Given the description of an element on the screen output the (x, y) to click on. 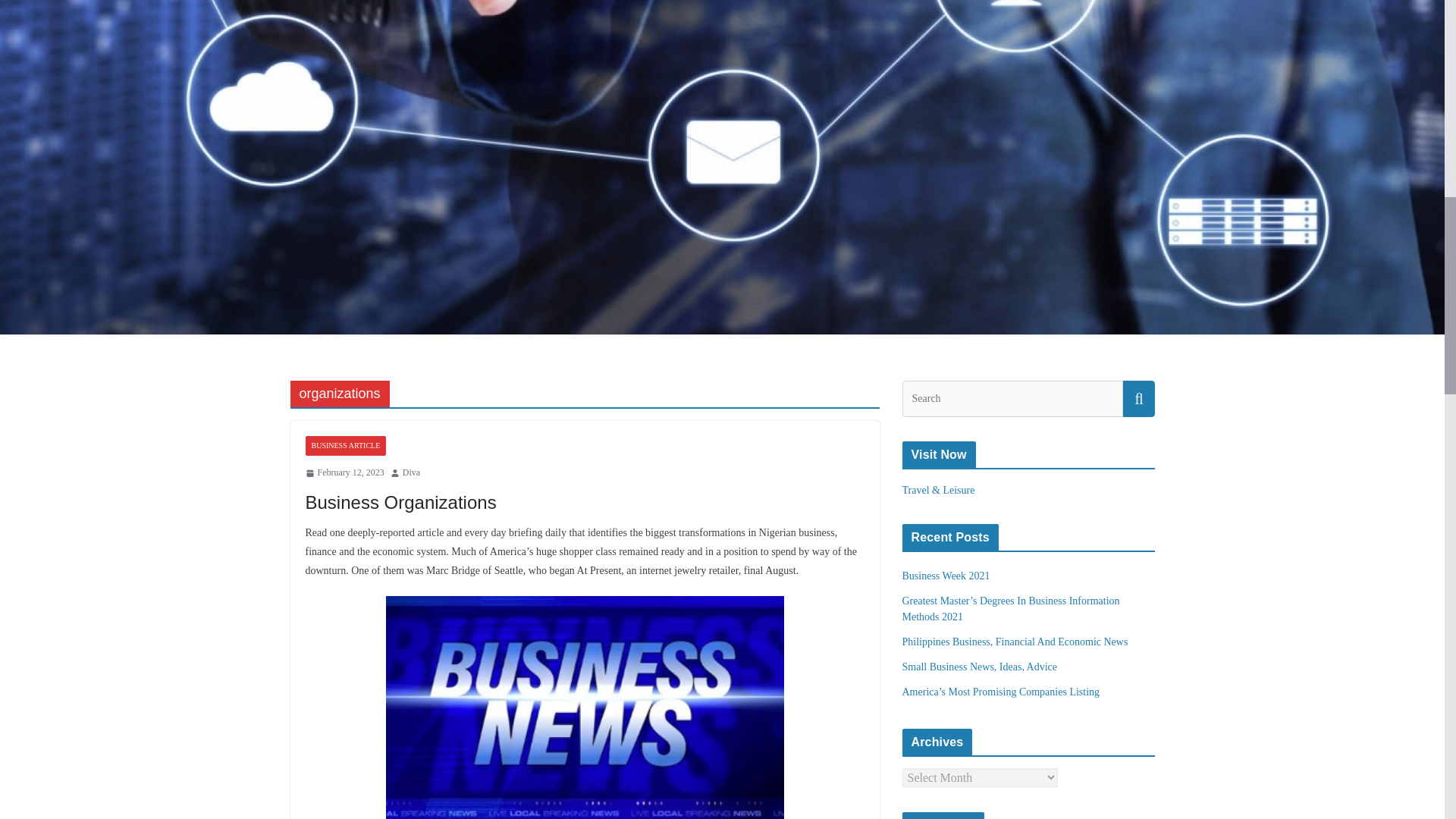
9:29 pm (344, 473)
Business Organizations (400, 502)
Business Organizations (400, 502)
Diva (411, 473)
BUSINESS ARTICLE (344, 445)
Diva (411, 473)
February 12, 2023 (344, 473)
